Given the description of an element on the screen output the (x, y) to click on. 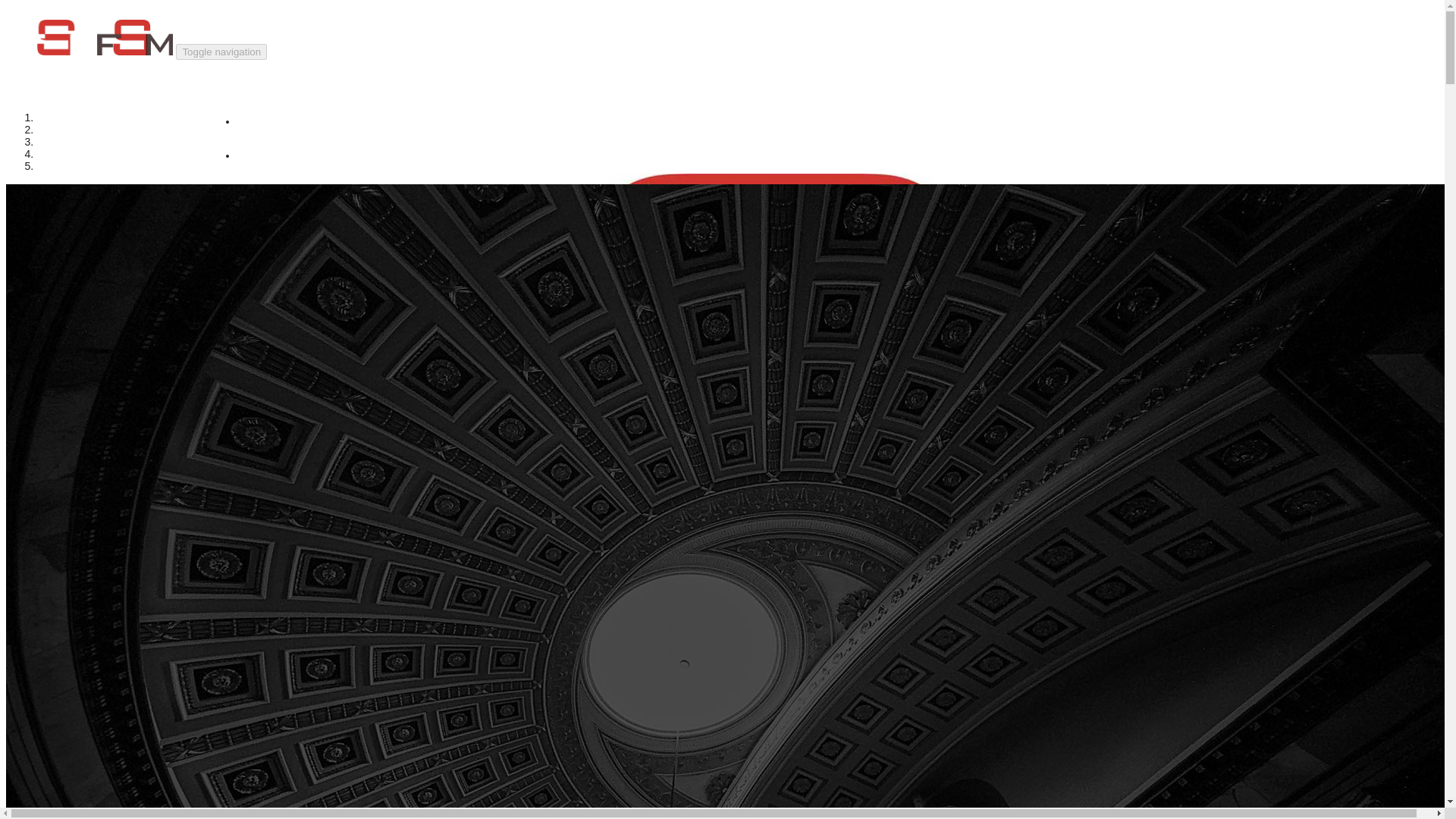
CONTACT US (737, 618)
FEDERAL SOLUTIONS (737, 156)
Toggle navigation (221, 51)
HOME (1205, 521)
FINANCING OPTIONS (736, 189)
ABOUT (737, 122)
ENERGY SOLUTIONS (738, 549)
FAQS (737, 583)
